Given the description of an element on the screen output the (x, y) to click on. 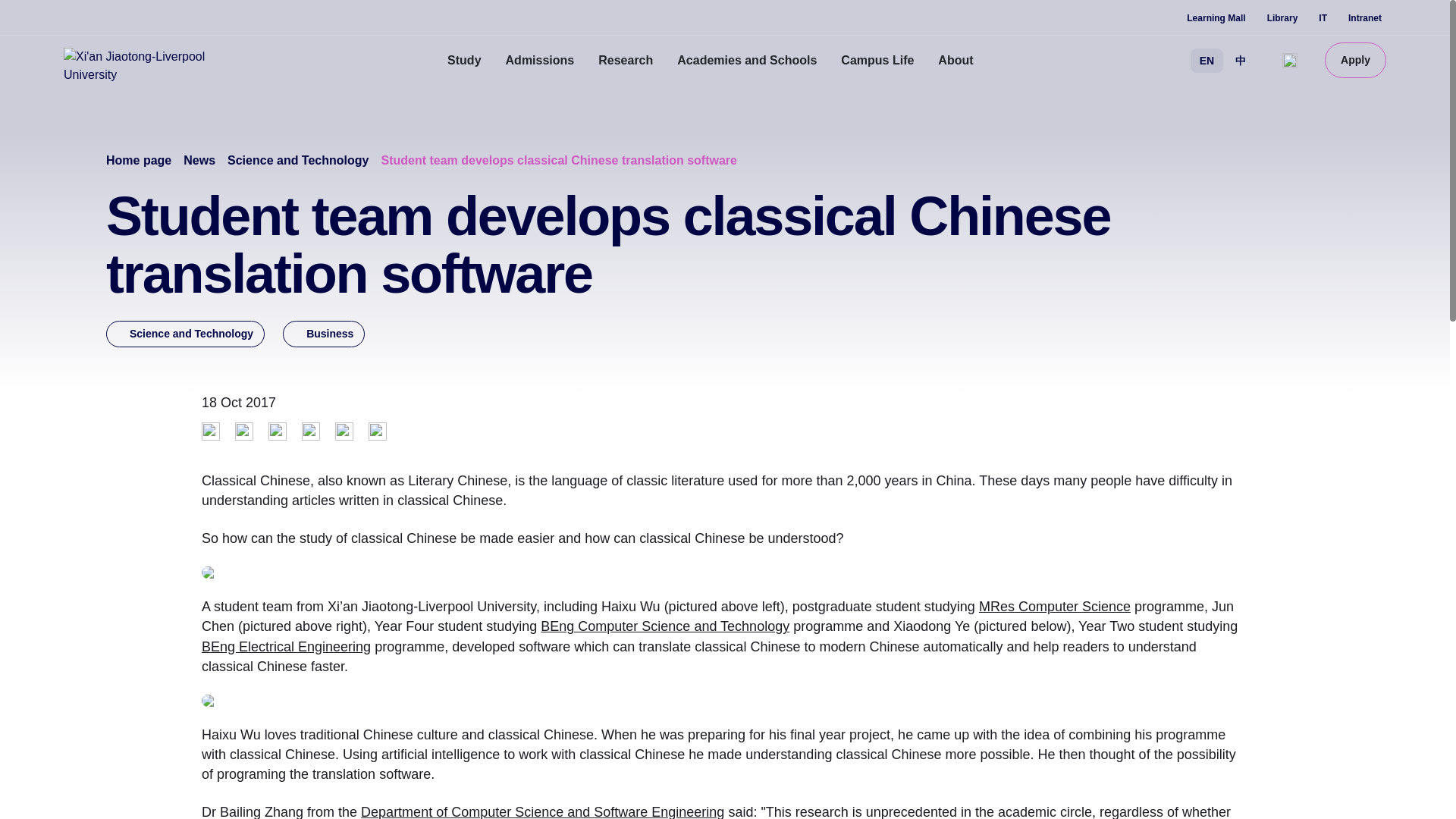
Study (464, 60)
Learning Mall (1215, 18)
Intranet (1364, 18)
Admissions (539, 60)
Library (1282, 18)
